Given the description of an element on the screen output the (x, y) to click on. 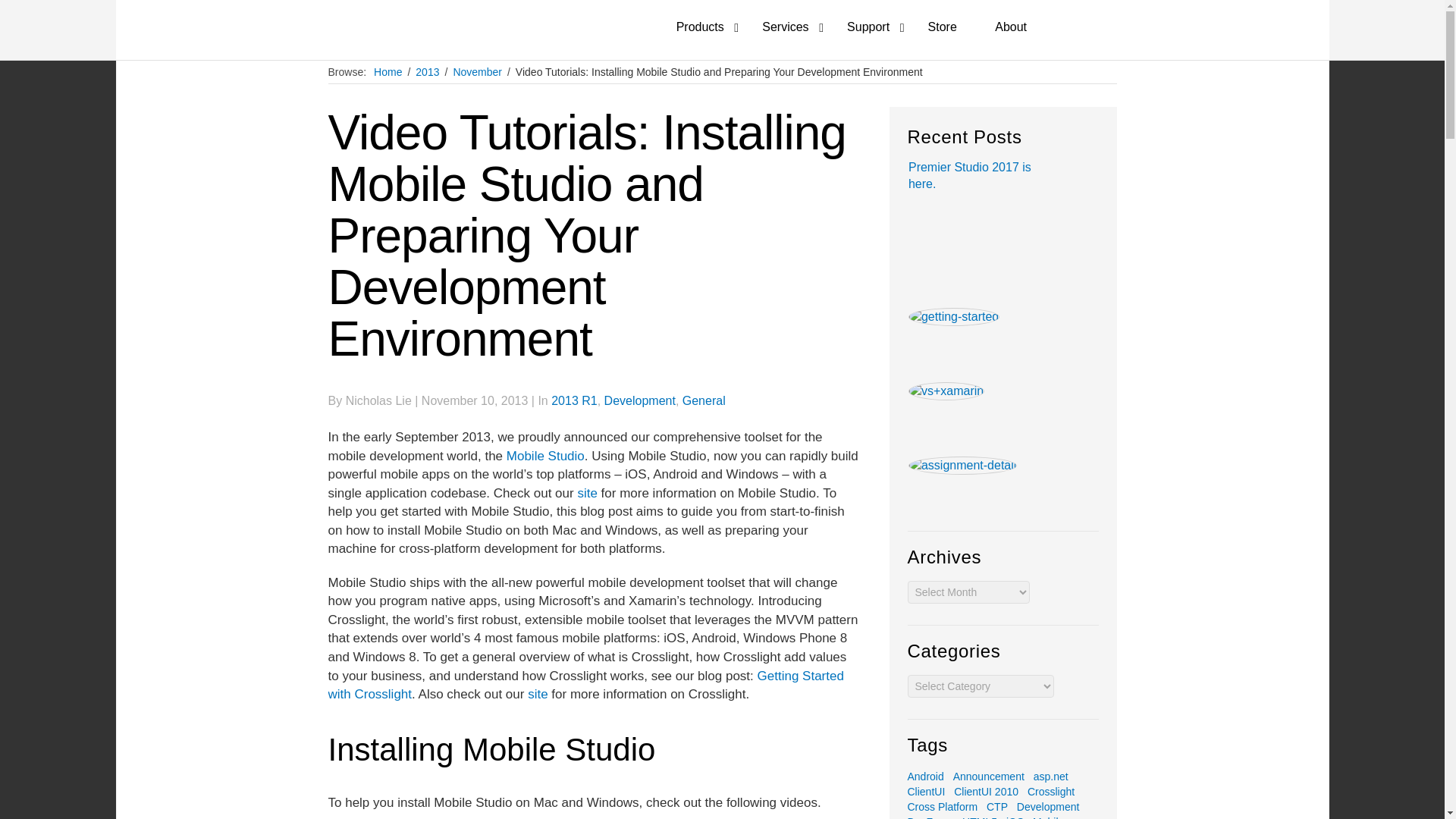
Home (387, 71)
site (537, 694)
Products (710, 27)
site (586, 493)
Services (795, 27)
Development (639, 400)
22 topics (1053, 776)
Search for: (1100, 29)
About (1021, 27)
Store (953, 27)
Getting Started with Crosslight (585, 685)
11 topics (991, 776)
Search (22, 11)
2013 R1 (573, 400)
29 topics (928, 776)
